Given the description of an element on the screen output the (x, y) to click on. 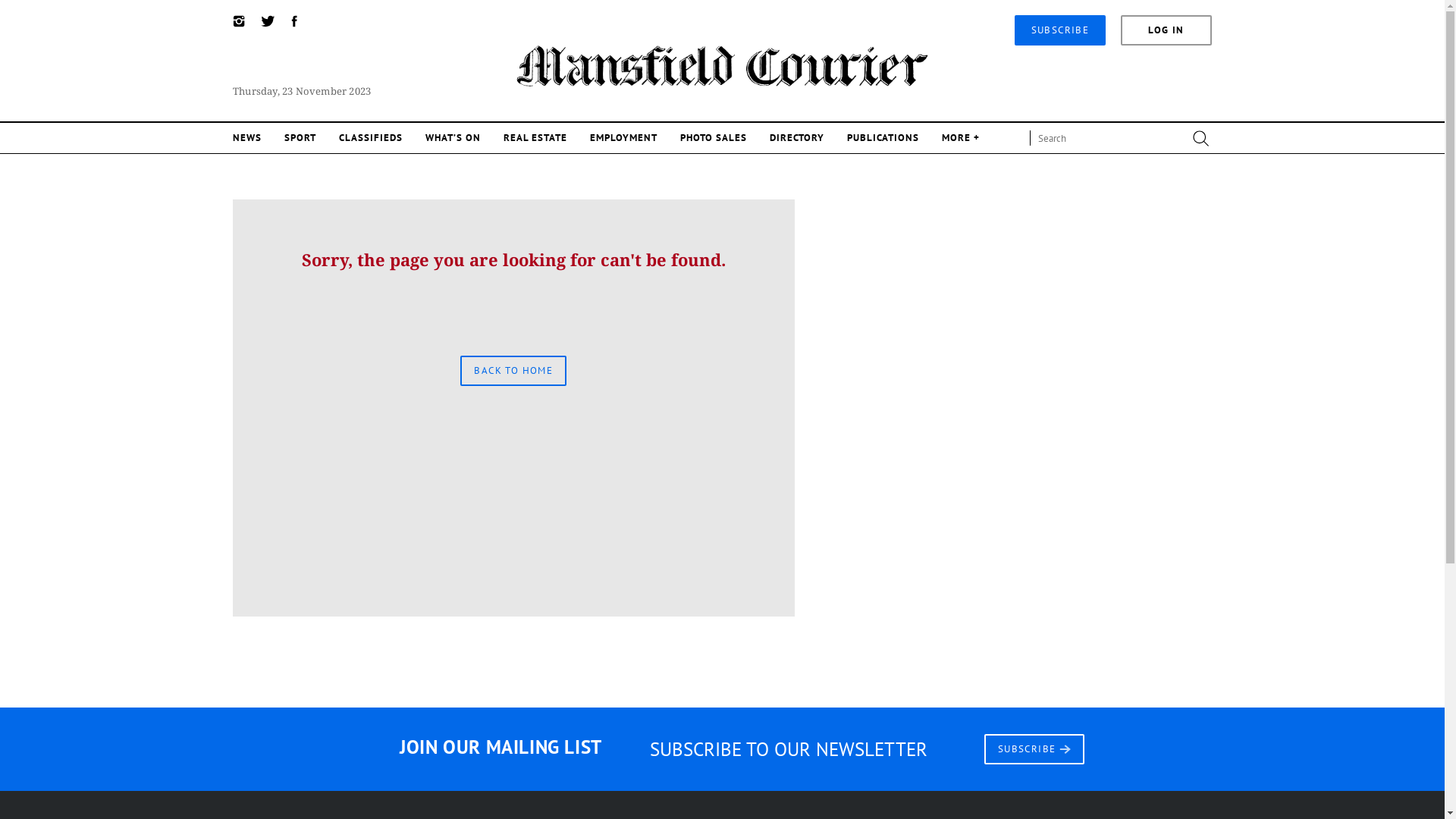
REAL ESTATE Element type: text (535, 137)
MORE + Element type: text (960, 137)
NEWS Element type: text (246, 137)
BACK TO HOME Element type: text (513, 370)
DIRECTORY Element type: text (796, 137)
SUBSCRIBE Element type: text (1034, 747)
CLASSIFIEDS Element type: text (370, 137)
SPORT Element type: text (300, 137)
EMPLOYMENT Element type: text (623, 137)
PHOTO SALES Element type: text (713, 137)
PUBLICATIONS Element type: text (883, 137)
